Given the description of an element on the screen output the (x, y) to click on. 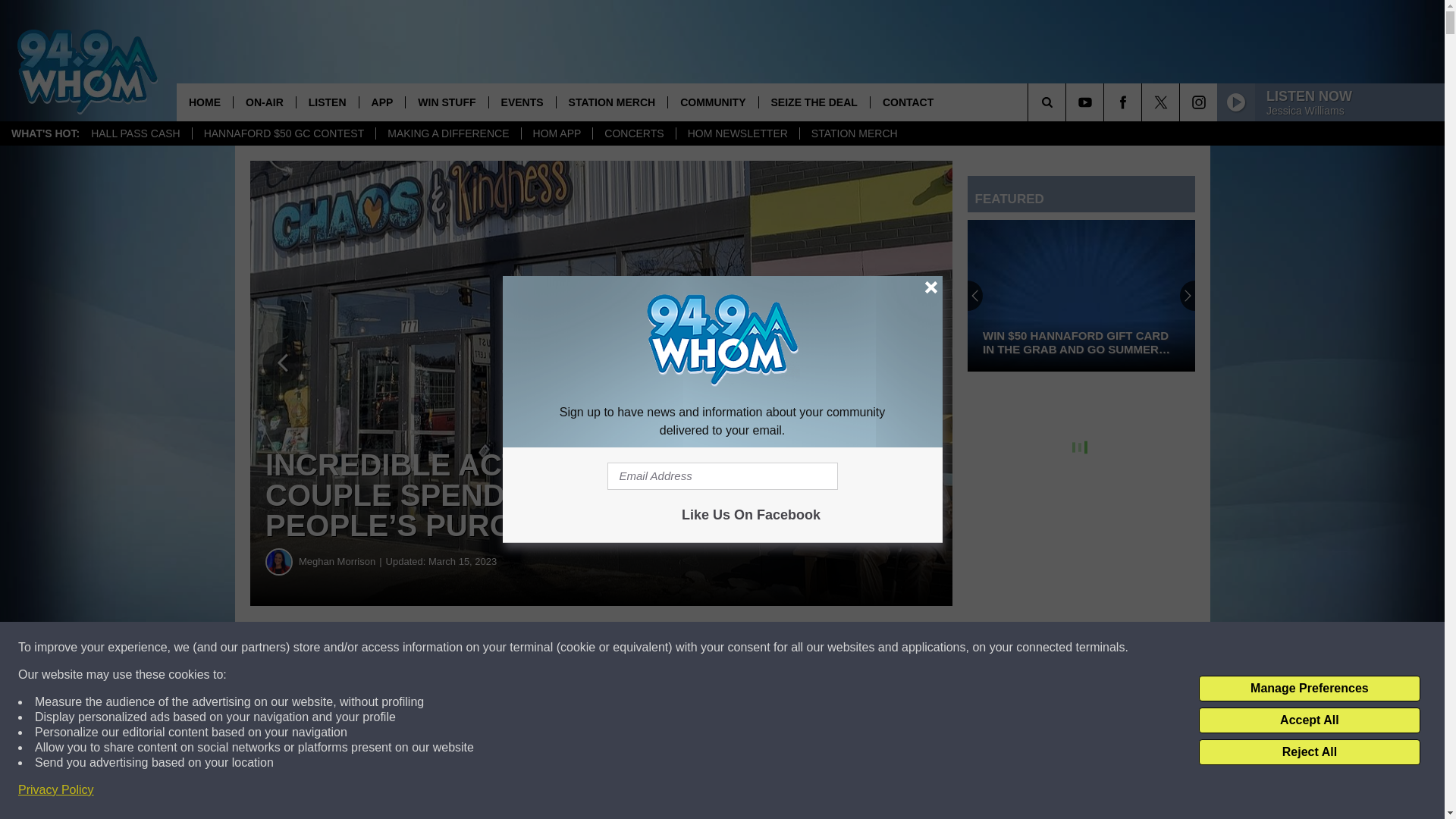
ON-AIR (263, 102)
MAKING A DIFFERENCE (447, 133)
HALL PASS CASH (136, 133)
Manage Preferences (1309, 688)
Share on Twitter (741, 647)
HOM APP (556, 133)
SEARCH (1068, 102)
HOM NEWSLETTER (737, 133)
WIN STUFF (445, 102)
LISTEN (326, 102)
Accept All (1309, 720)
CONCERTS (633, 133)
HOME (204, 102)
SEARCH (1068, 102)
Reject All (1309, 751)
